Given the description of an element on the screen output the (x, y) to click on. 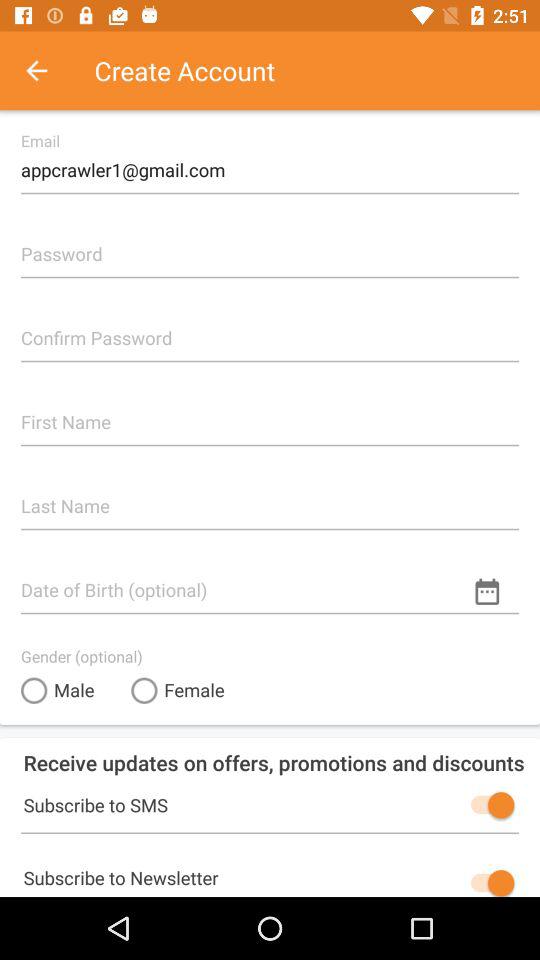
turn off the item next to female (57, 690)
